Given the description of an element on the screen output the (x, y) to click on. 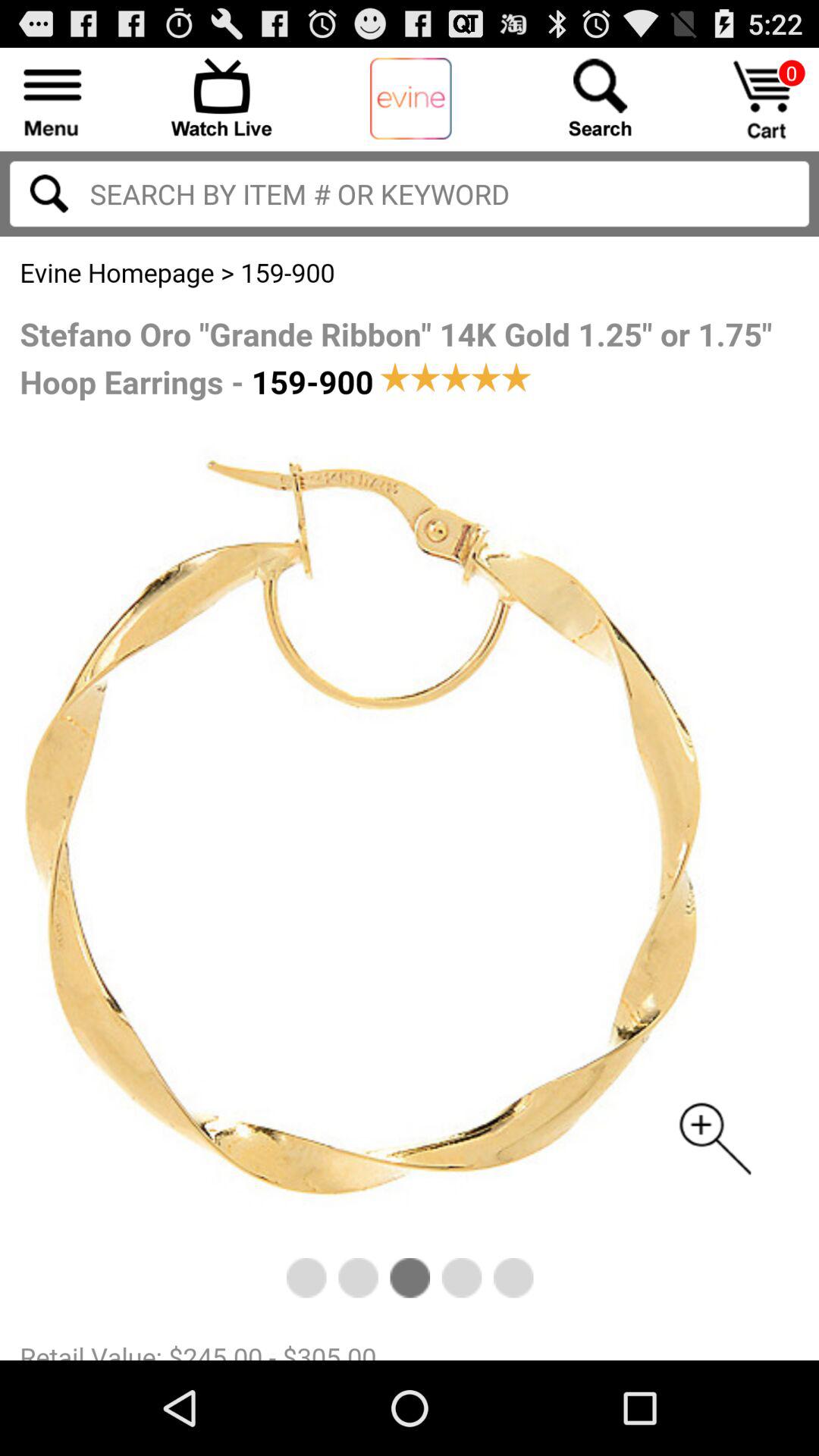
watch live stream (221, 97)
